Given the description of an element on the screen output the (x, y) to click on. 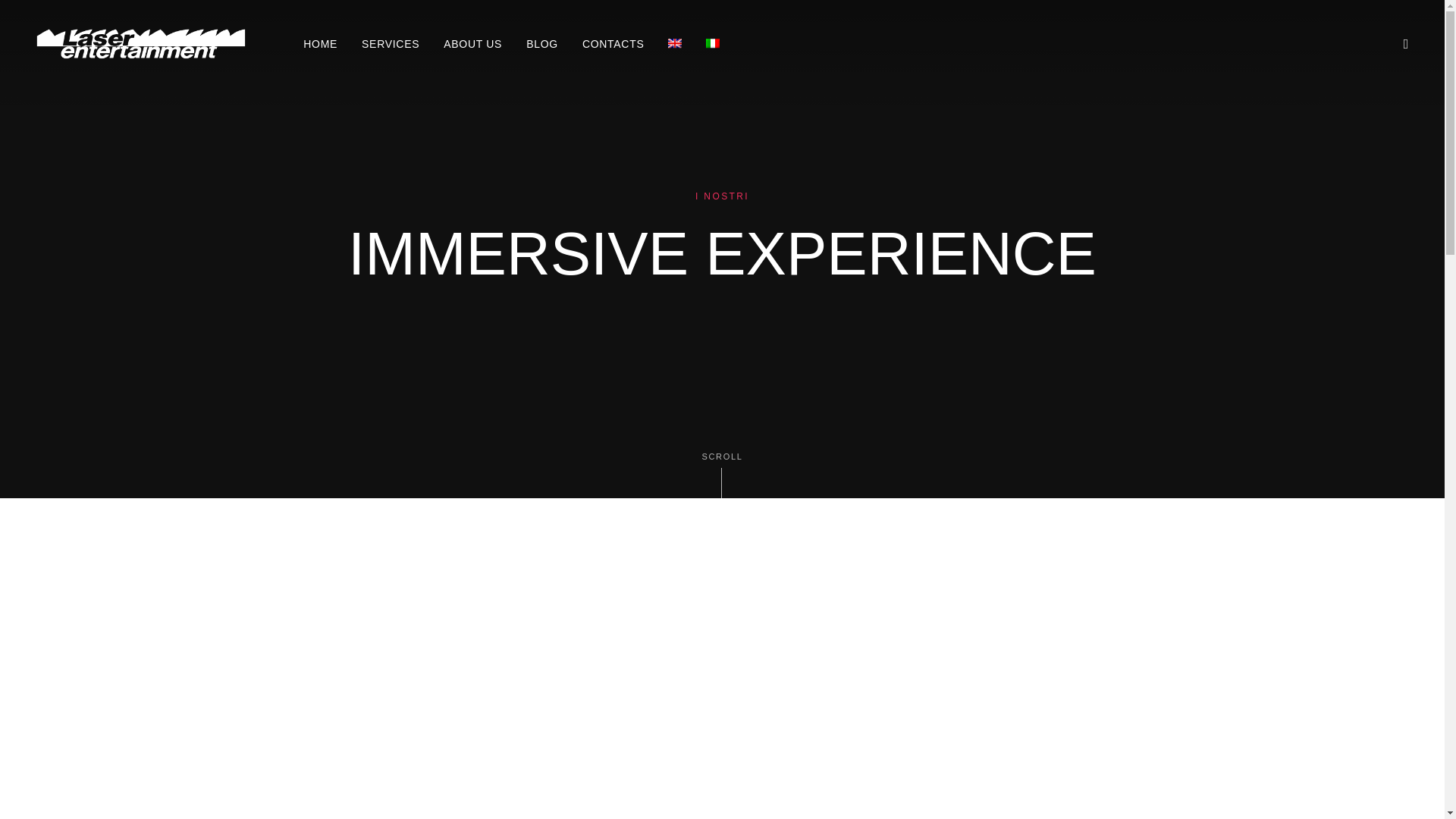
CONTACTS (613, 44)
Instagram (615, 582)
Facebook (580, 582)
Personal Data Management (625, 749)
Default Label (649, 582)
ABOUT US (471, 44)
Privacy Policy (595, 685)
youtube (649, 582)
Magellano Consulting S.r.l.s (440, 781)
facebook (580, 582)
